Given the description of an element on the screen output the (x, y) to click on. 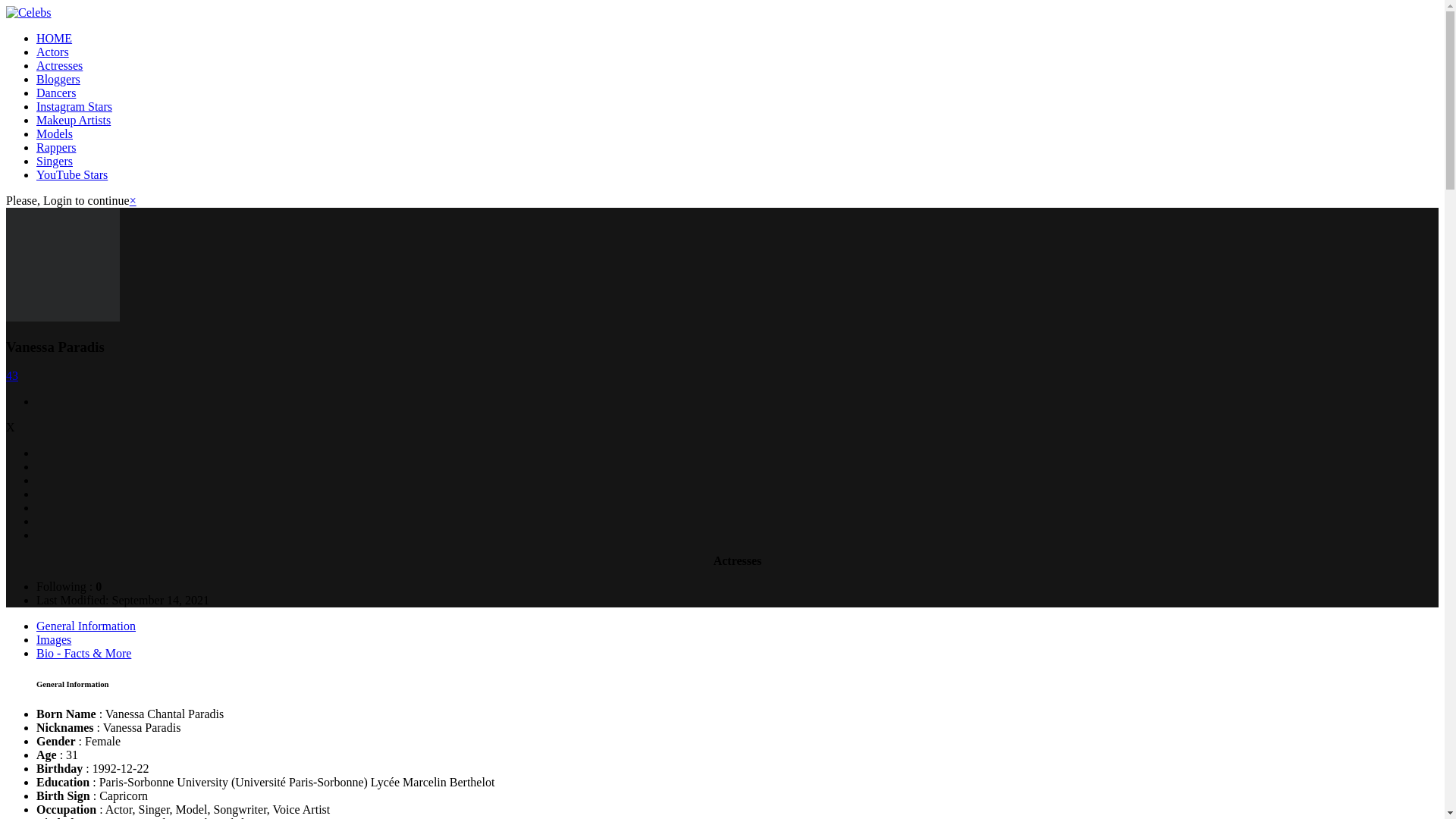
Dancers (55, 92)
Models (54, 133)
Instagram Stars (74, 106)
Makeup Artists (73, 119)
YouTube Stars (71, 174)
Bloggers (58, 78)
Vanessa Paradis (62, 264)
Actresses (59, 65)
Rappers (55, 146)
Actors (52, 51)
HOME (53, 38)
43 (11, 375)
Like (11, 375)
General Information (85, 625)
Singers (54, 160)
